Given the description of an element on the screen output the (x, y) to click on. 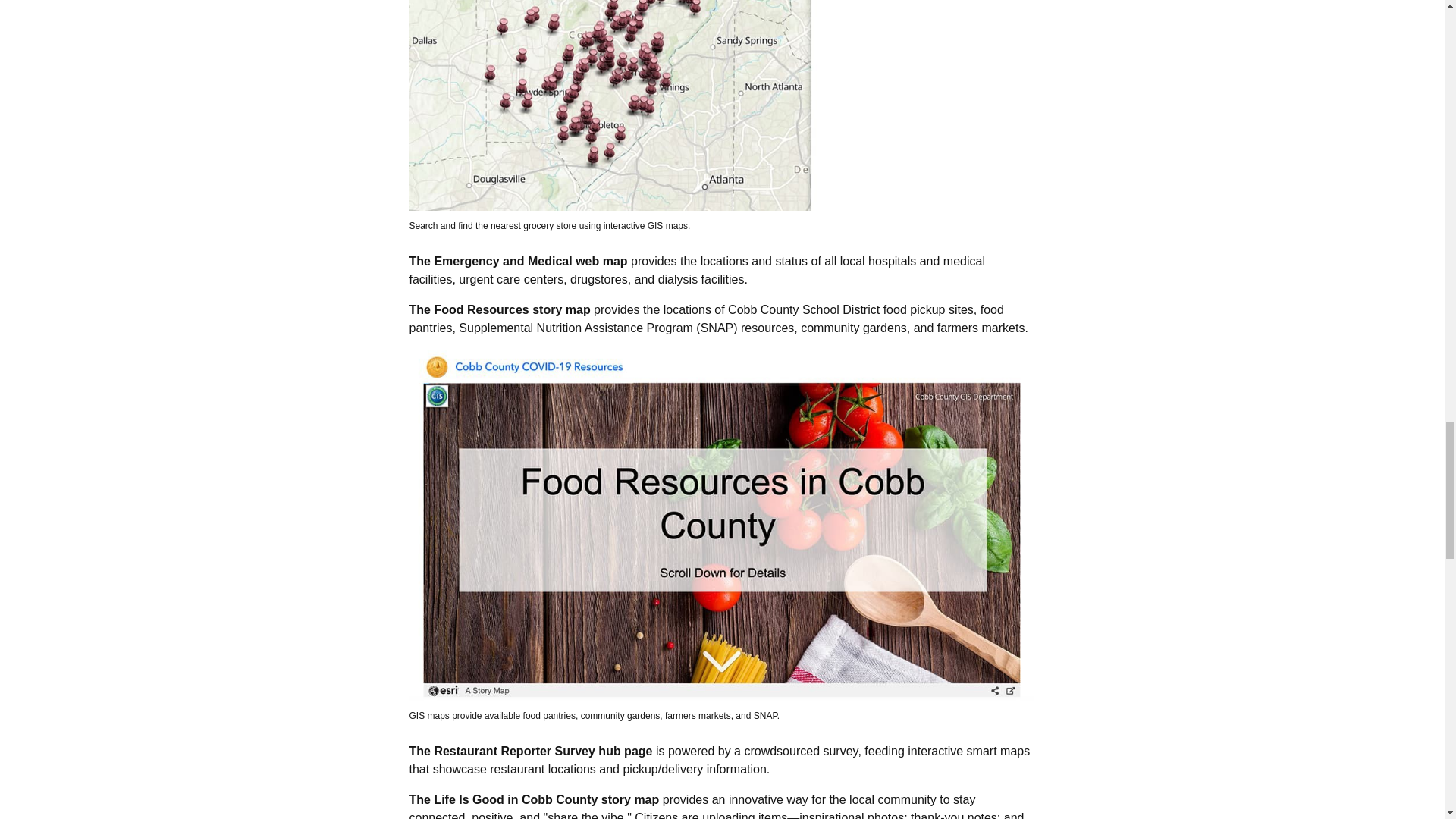
Grocery Stores Near Me interactive map (721, 105)
